Given the description of an element on the screen output the (x, y) to click on. 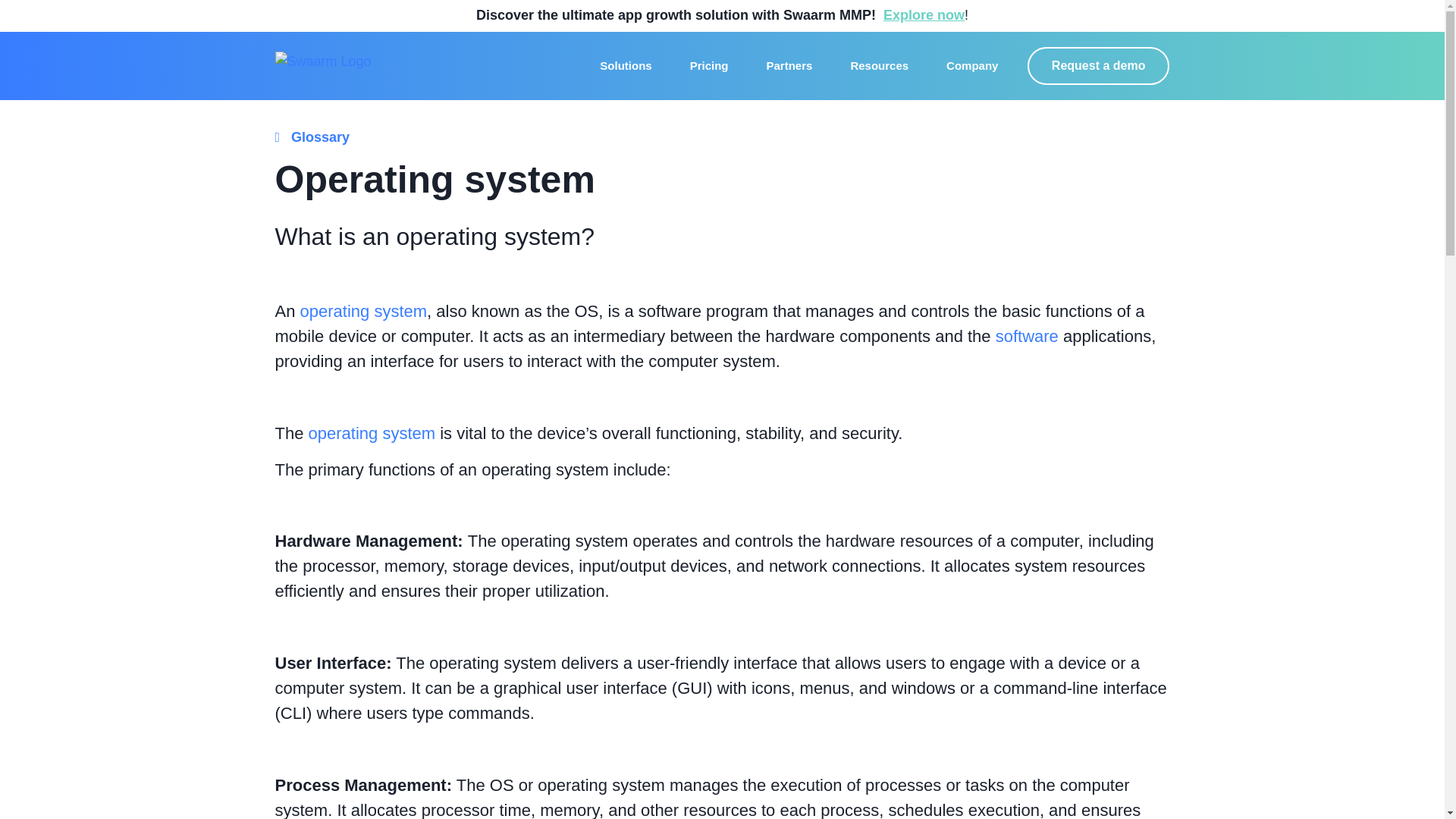
Explore now (923, 14)
Company (971, 65)
Pricing (709, 65)
Partners (788, 65)
Resources (879, 65)
Solutions (624, 65)
